Given the description of an element on the screen output the (x, y) to click on. 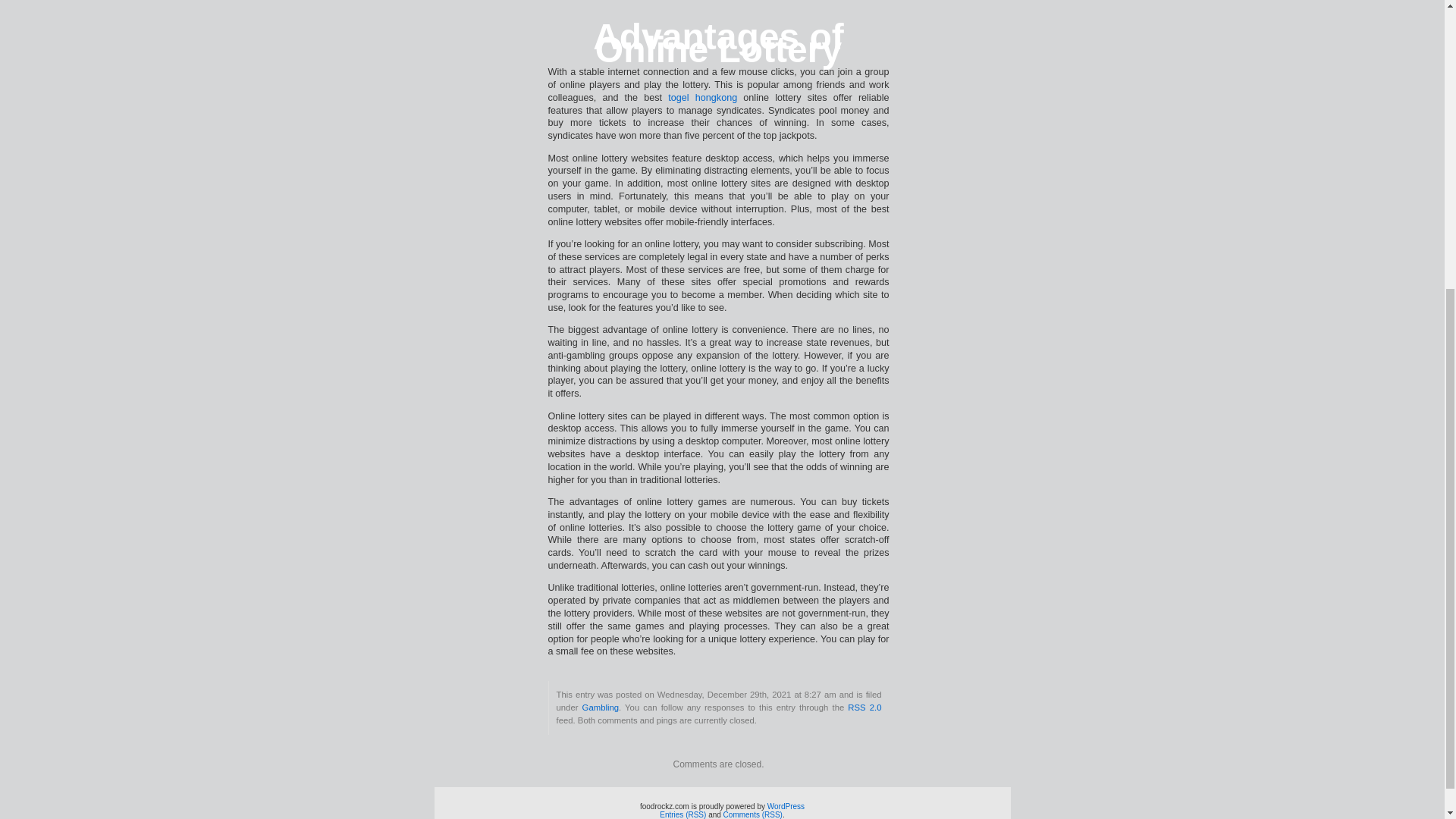
RSS 2.0 (863, 706)
WordPress (786, 806)
Gambling (600, 706)
togel hongkong (702, 97)
